Given the description of an element on the screen output the (x, y) to click on. 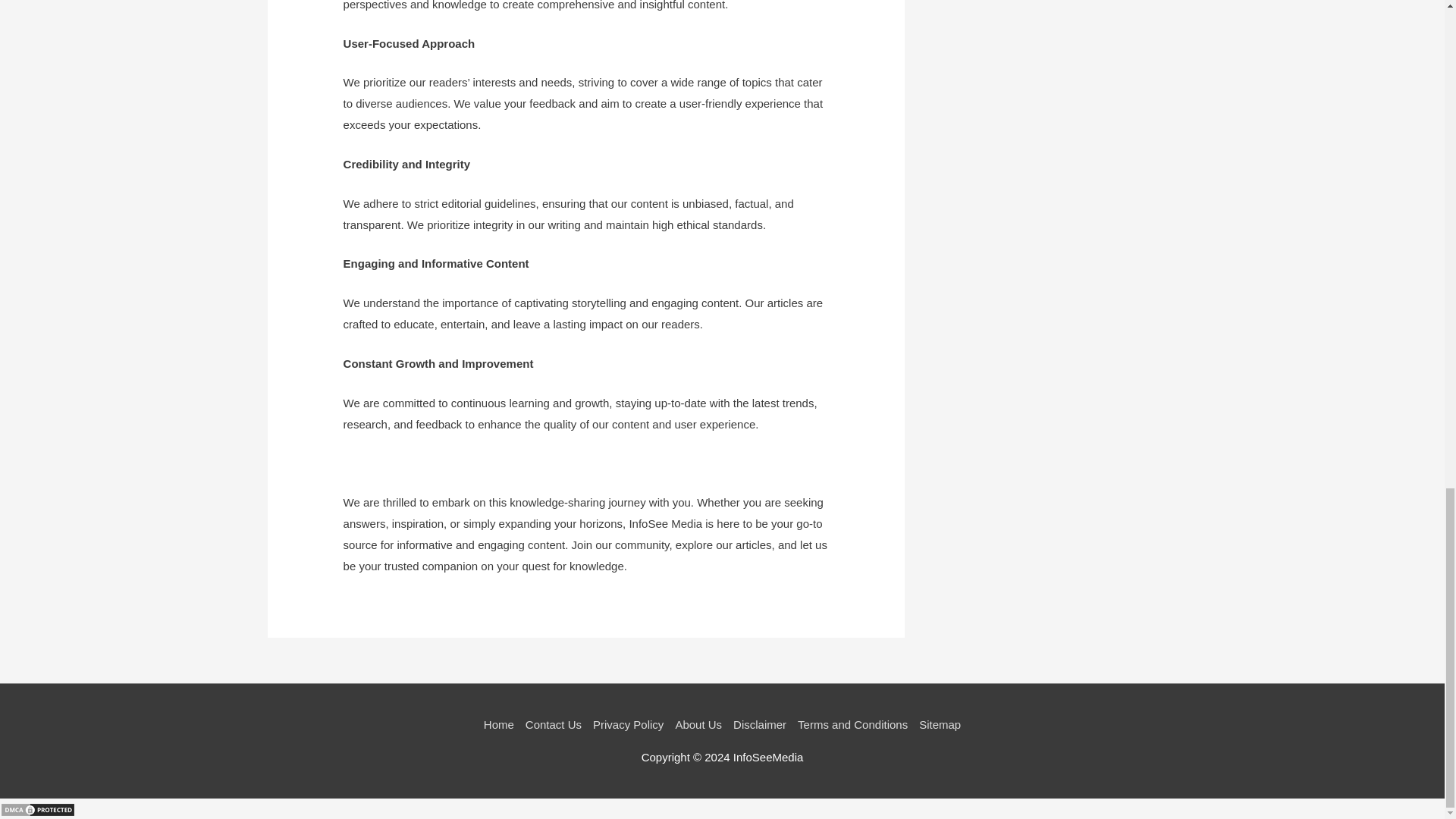
Privacy Policy (628, 724)
Sitemap (937, 724)
Terms and Conditions (853, 724)
DMCA.com Protection Status (37, 808)
Contact Us (552, 724)
About Us (698, 724)
Home (501, 724)
Disclaimer (760, 724)
